Given the description of an element on the screen output the (x, y) to click on. 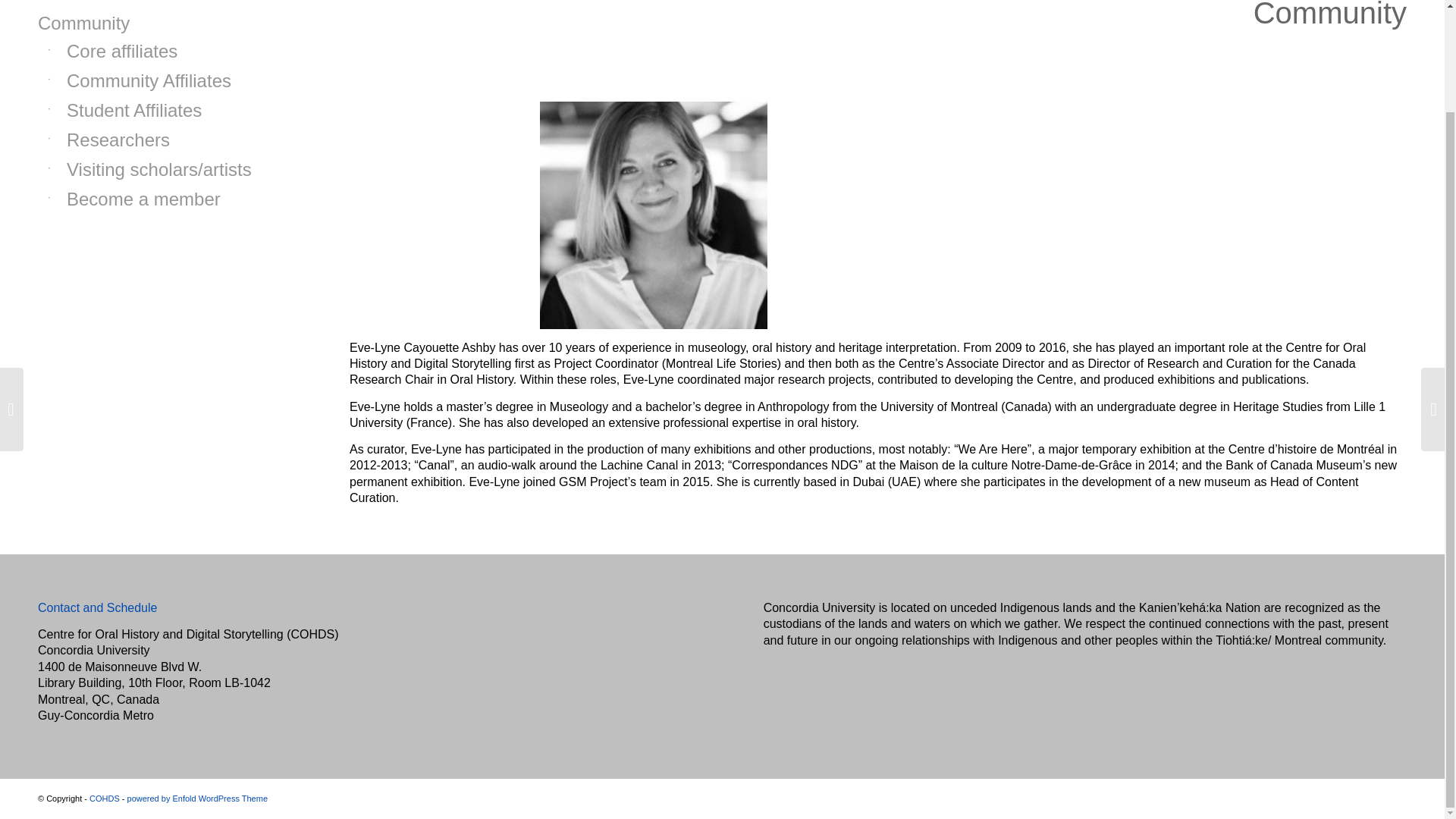
Researchers (166, 140)
Contact and Schedule (97, 607)
Student Affiliates (166, 111)
Community Affiliates (166, 81)
Core affiliates (166, 51)
x3 (653, 215)
Become a member (166, 199)
Community (156, 23)
